Given the description of an element on the screen output the (x, y) to click on. 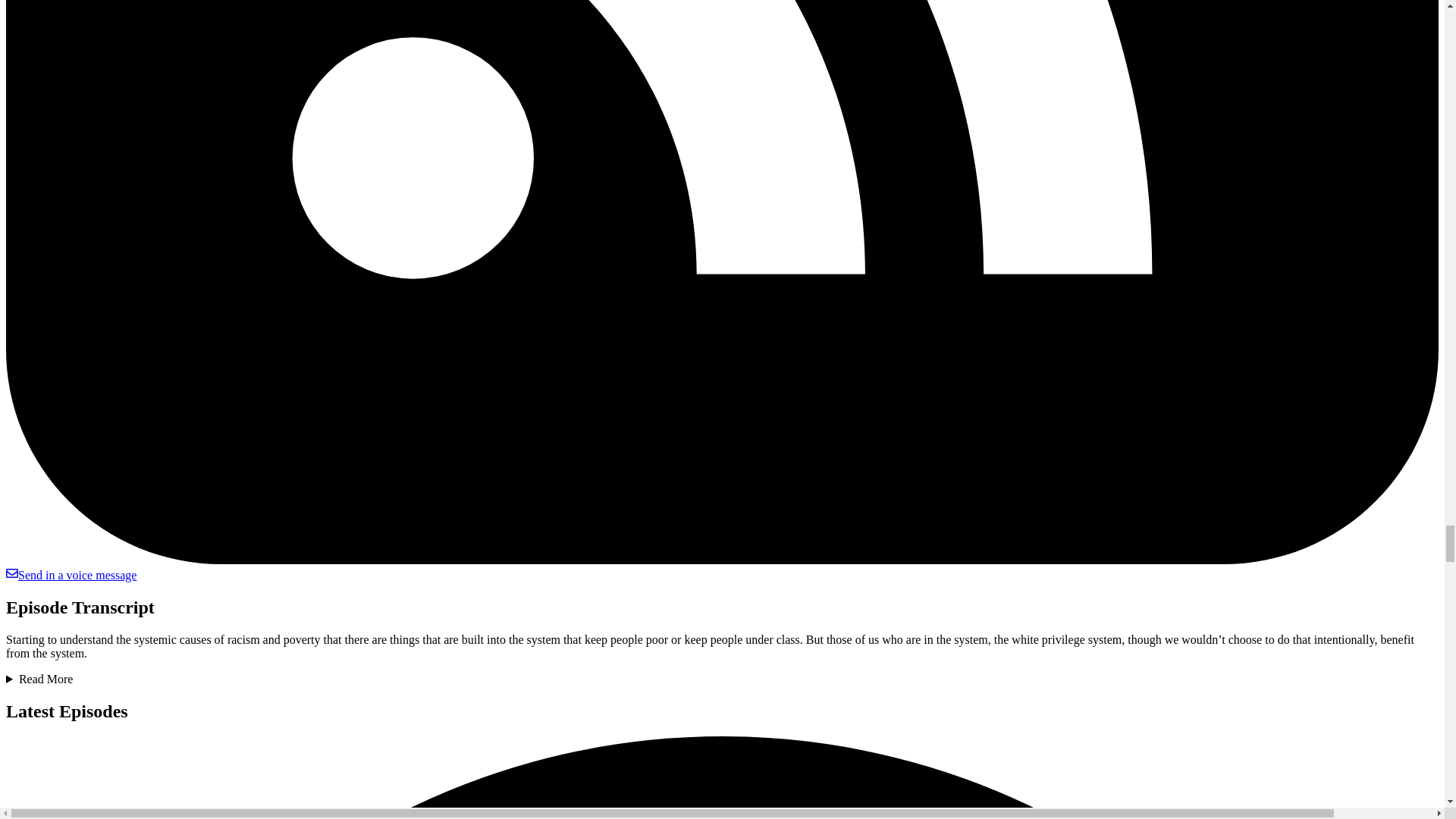
Send in a voice message (70, 574)
